Given the description of an element on the screen output the (x, y) to click on. 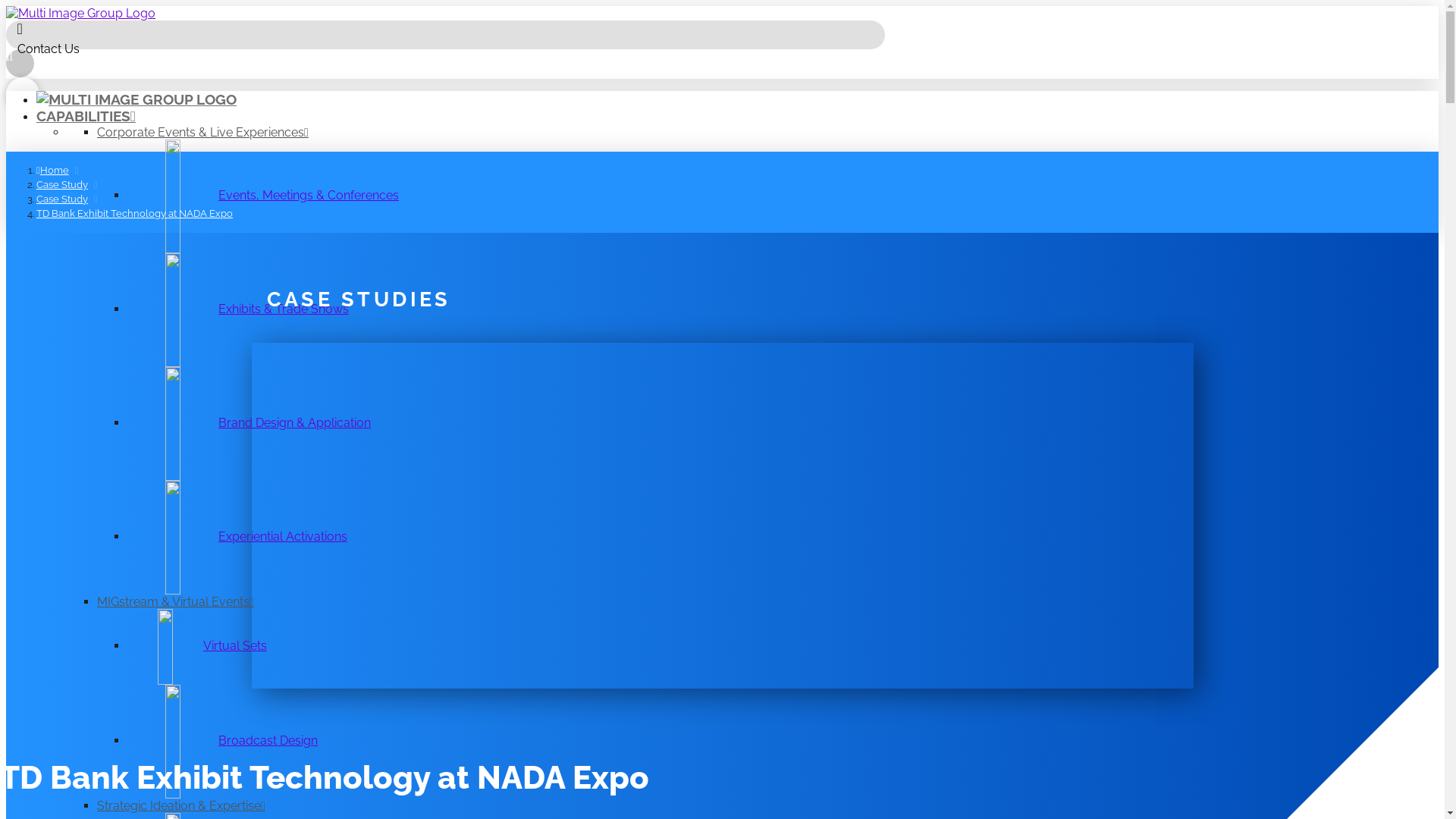
Broadcast Design Element type: text (222, 740)
CAPABILITIES Element type: text (85, 115)
Case Study Element type: text (61, 198)
Brand Design & Application Element type: text (248, 422)
Strategic Ideation & Expertise Element type: text (181, 805)
Exhibits & Trade Shows Element type: text (237, 308)
Events, Meetings & Conferences Element type: text (262, 195)
Home Element type: text (52, 169)
Case Study Element type: text (61, 183)
TD Bank Exhibit Technology at NADA Expo Element type: text (134, 212)
Virtual Sets Element type: text (196, 645)
Corporate Events & Live Experiences Element type: text (202, 132)
MIGstream & Virtual Events Element type: text (175, 601)
Experiential Activations Element type: text (237, 536)
